Given the description of an element on the screen output the (x, y) to click on. 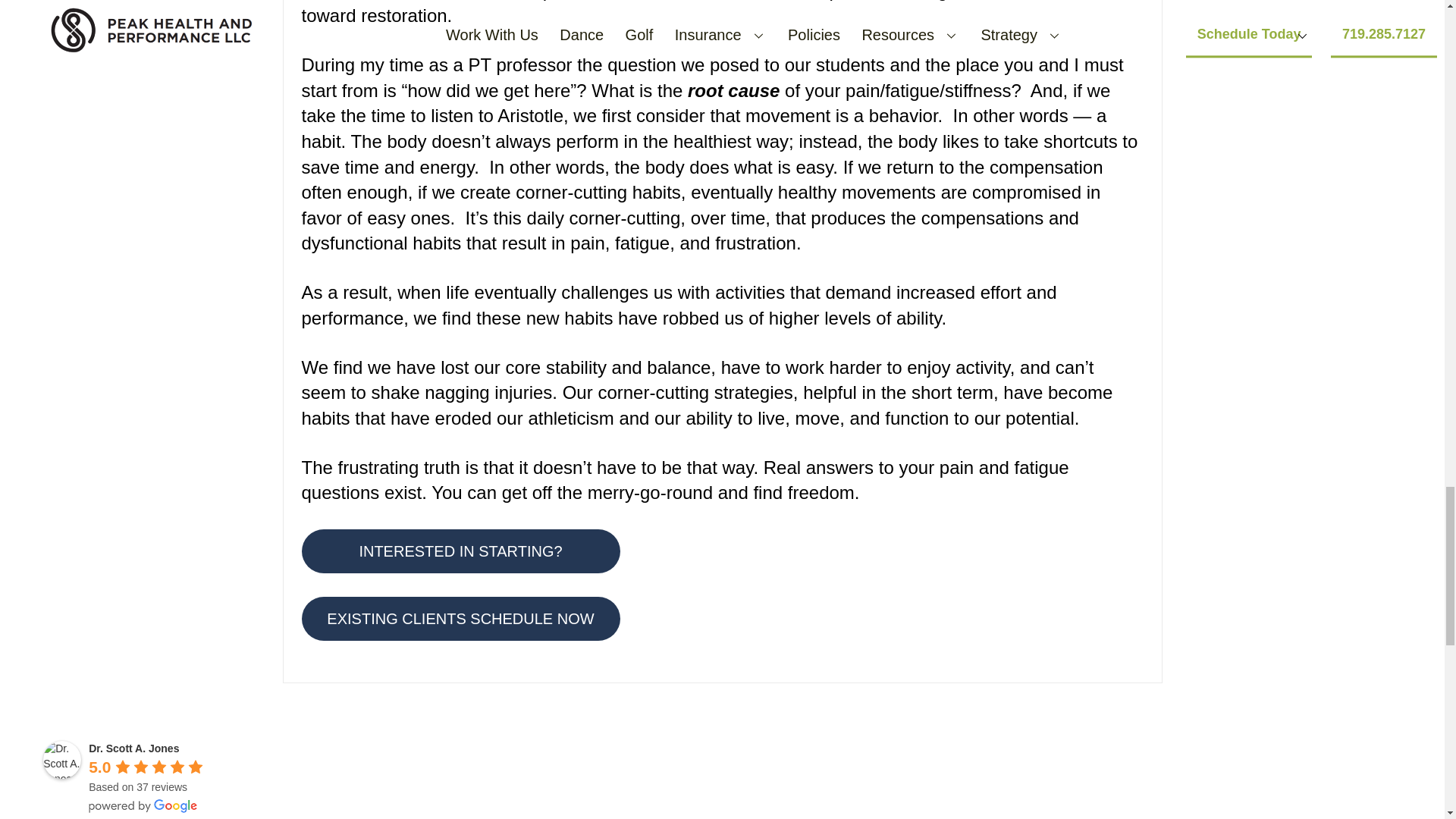
EXISTING CLIENTS SCHEDULE NOW (460, 618)
Dr. Scott A. Jones (62, 759)
powered by Google (143, 806)
Dr. Scott A. Jones (133, 748)
INTERESTED IN STARTING? (460, 551)
